Given the description of an element on the screen output the (x, y) to click on. 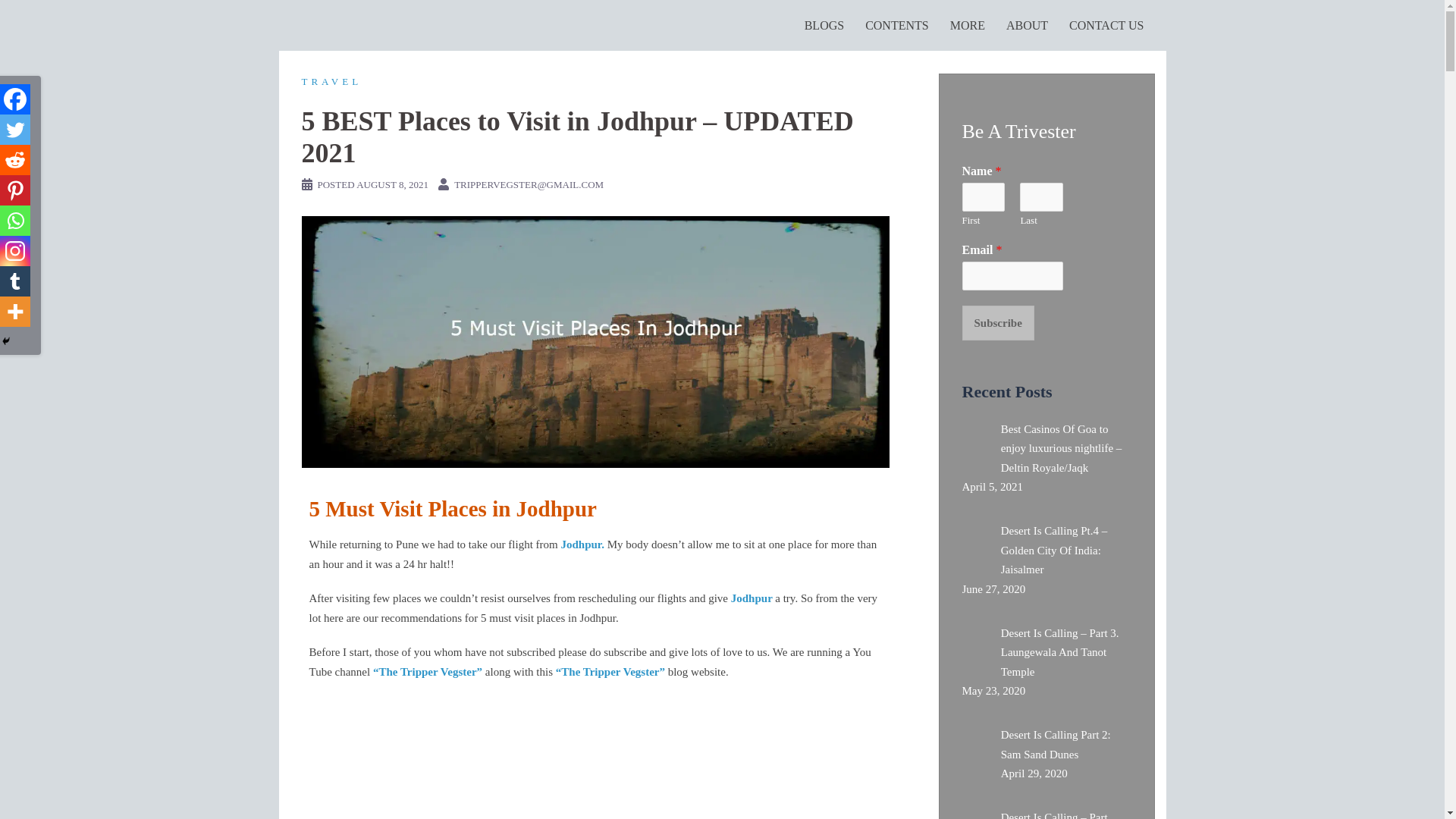
MORE (967, 25)
AUGUST 8, 2021 (392, 184)
TRAVEL (331, 81)
Facebook (15, 99)
Twitter (15, 129)
ABOUT (1027, 25)
BLOGS (824, 25)
Instagram (15, 250)
The Tripper Vegster (341, 24)
Whatsapp (15, 220)
Tumblr (15, 281)
CONTACT US (1105, 25)
Travel (331, 81)
Pinterest (15, 190)
Reddit (15, 159)
